Given the description of an element on the screen output the (x, y) to click on. 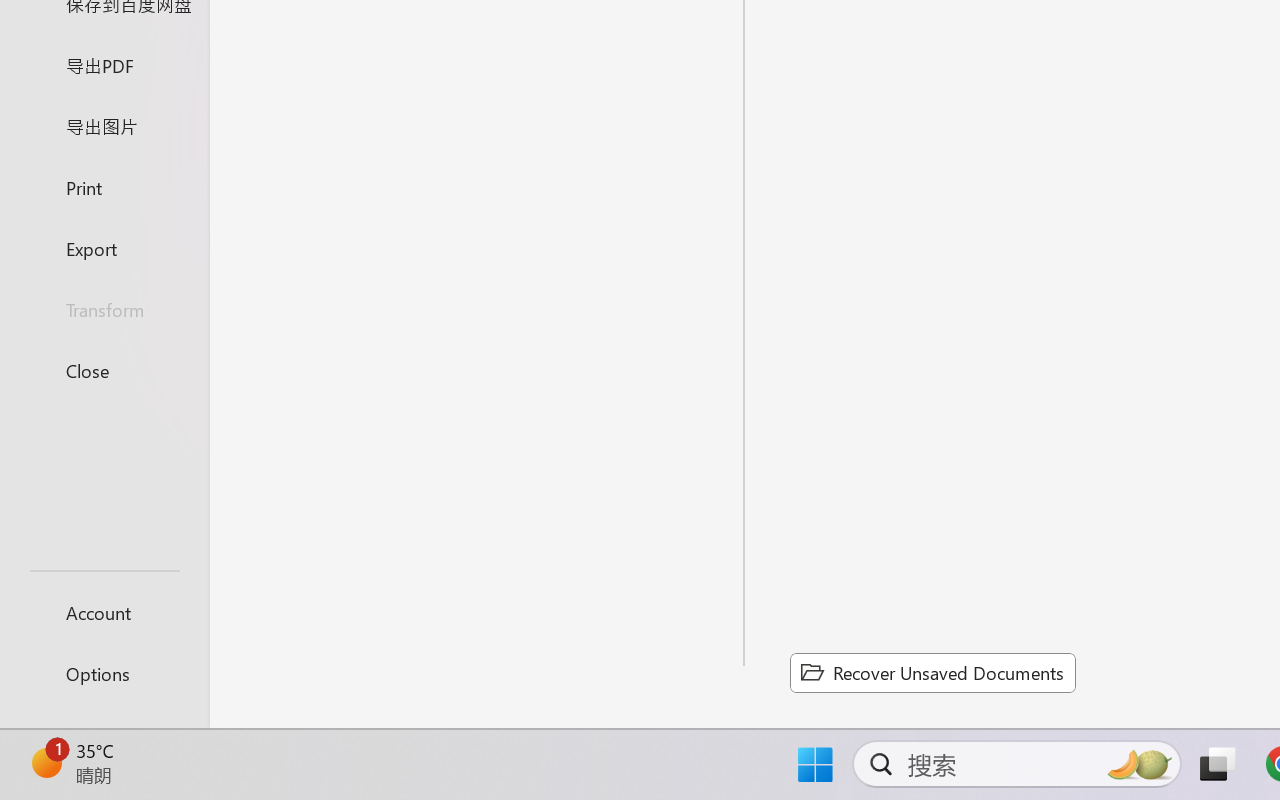
Export (104, 248)
Options (104, 673)
Print (104, 186)
Recover Unsaved Documents (932, 672)
Transform (104, 309)
Account (104, 612)
